Given the description of an element on the screen output the (x, y) to click on. 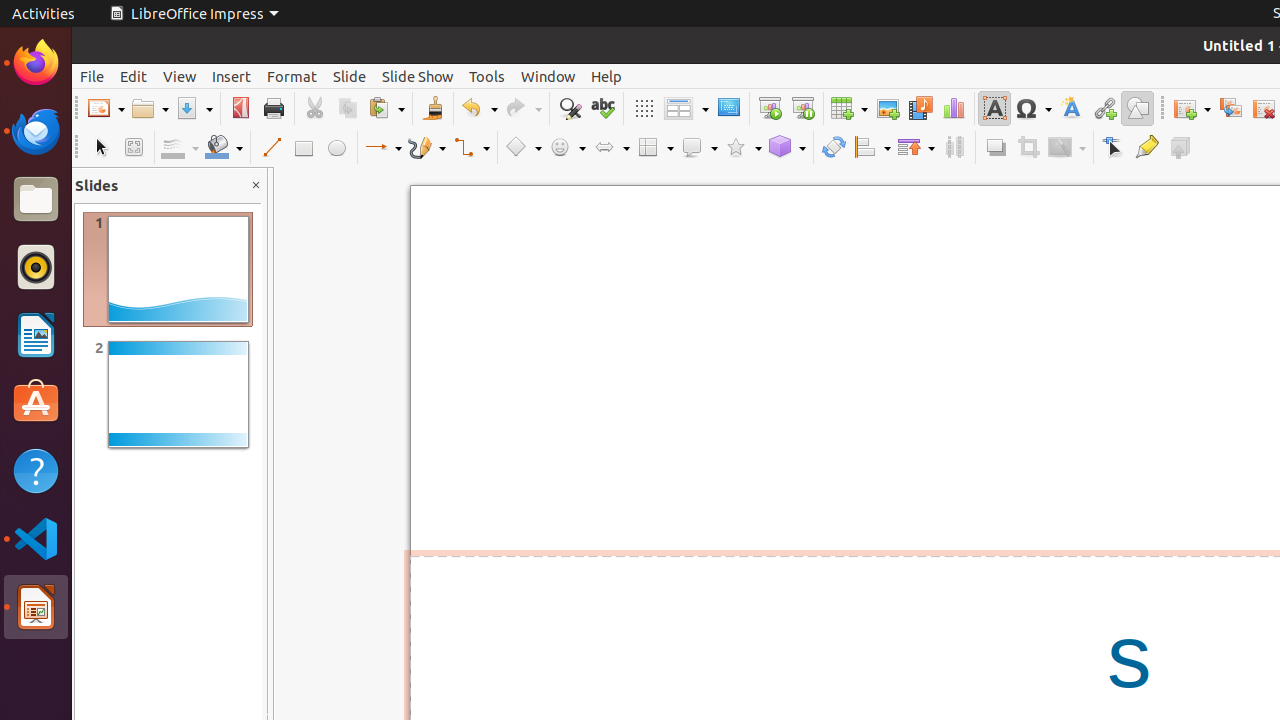
Arrange Element type: push-button (916, 147)
LibreOffice Impress Element type: menu (193, 13)
